Given the description of an element on the screen output the (x, y) to click on. 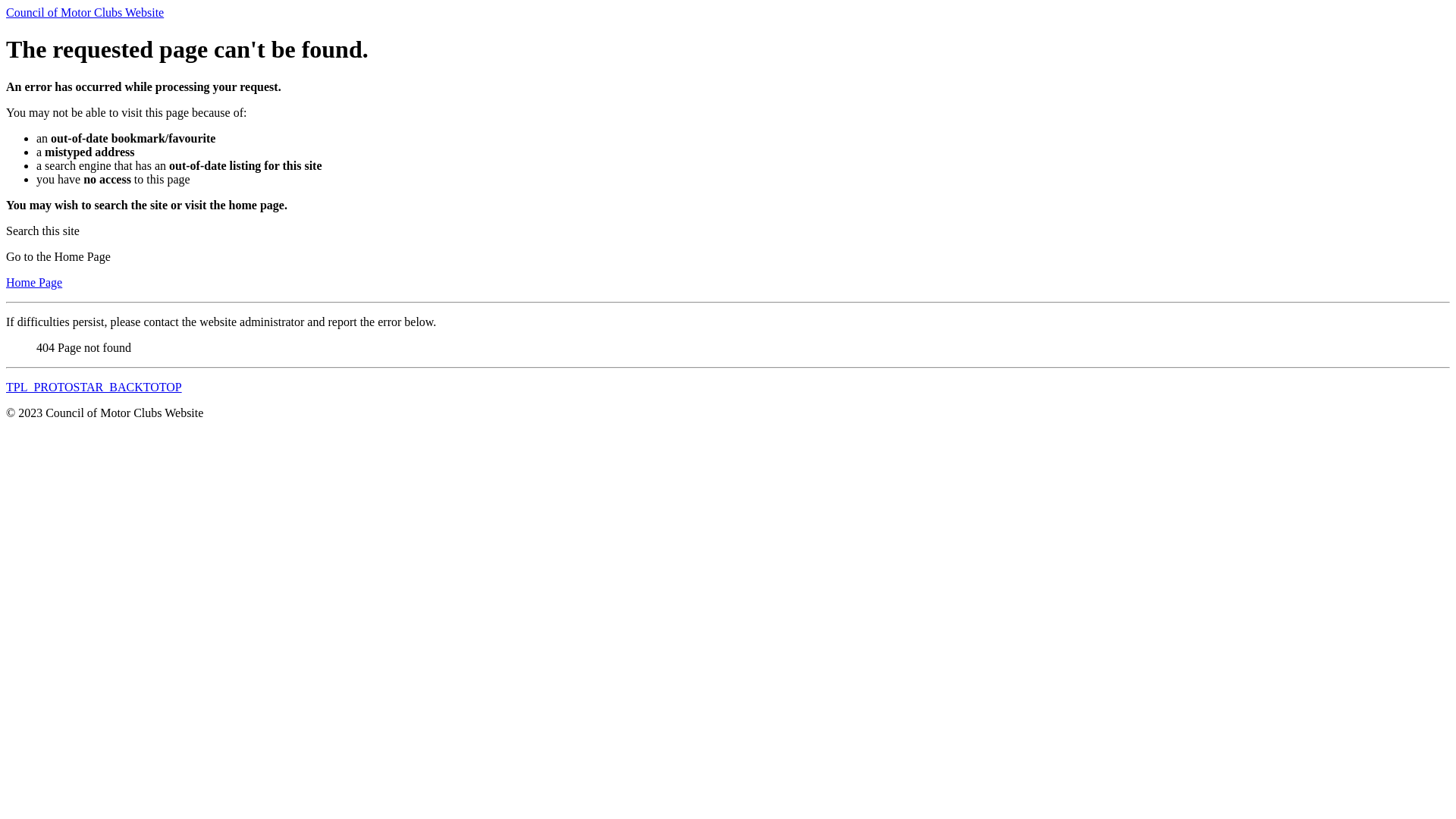
TPL_PROTOSTAR_BACKTOTOP Element type: text (94, 386)
Council of Motor Clubs Website Element type: text (84, 12)
Home Page Element type: text (34, 282)
